Given the description of an element on the screen output the (x, y) to click on. 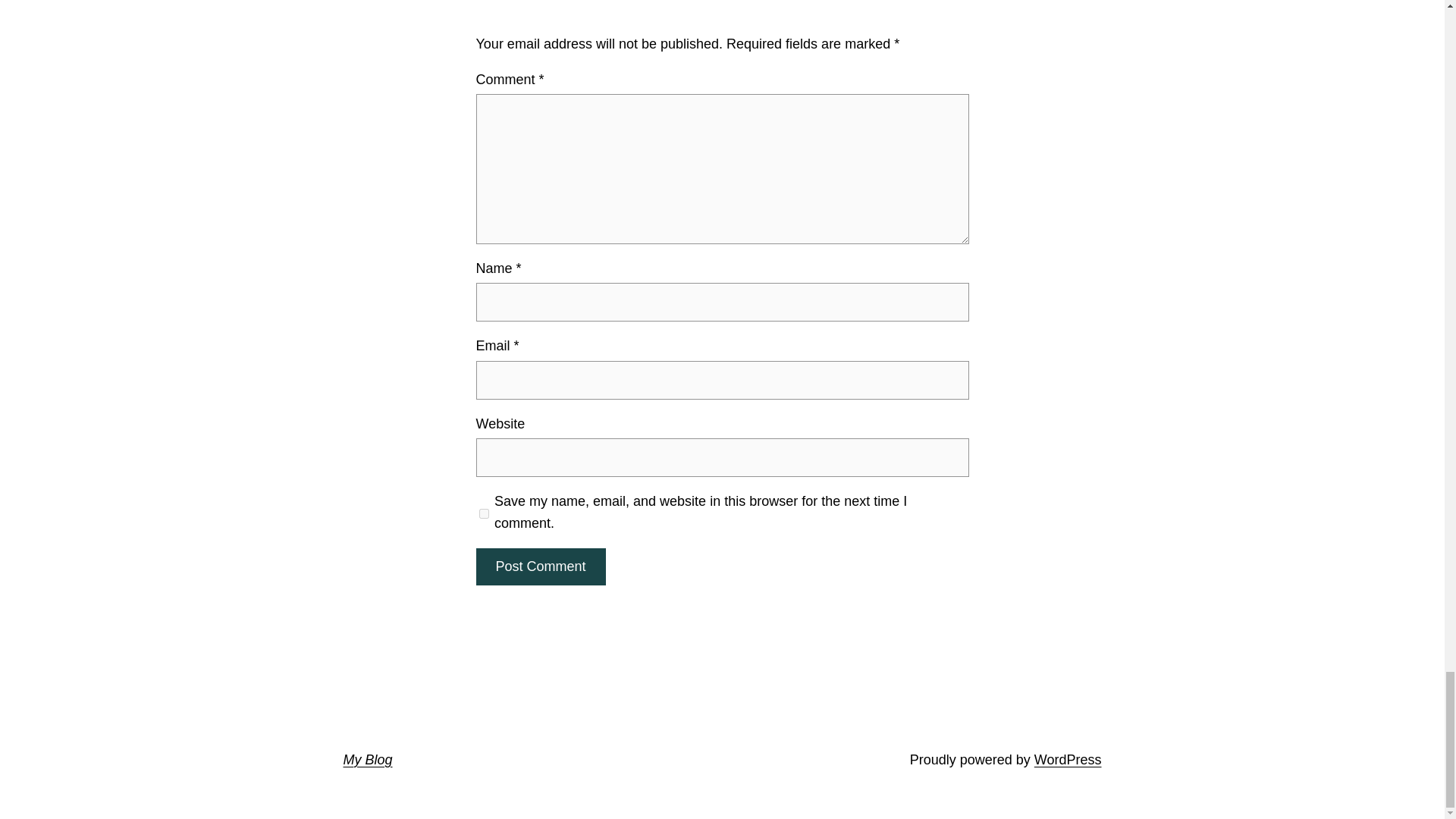
Post Comment (540, 566)
My Blog (366, 759)
WordPress (1067, 759)
Post Comment (540, 566)
